Given the description of an element on the screen output the (x, y) to click on. 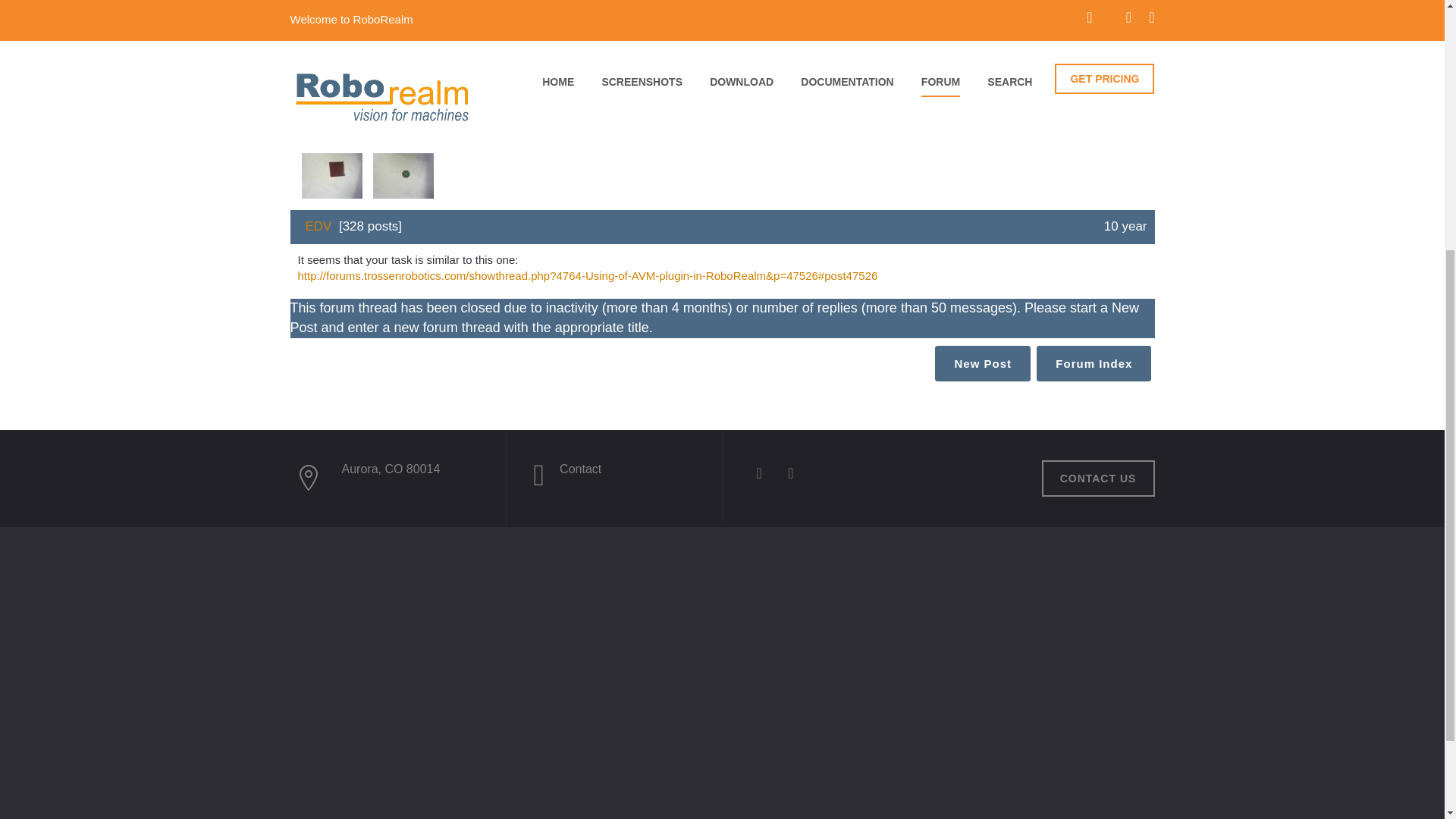
Contact (580, 468)
EDV (317, 226)
New Post (982, 363)
CONTACT US (1098, 478)
Forum Index (1093, 363)
